Given the description of an element on the screen output the (x, y) to click on. 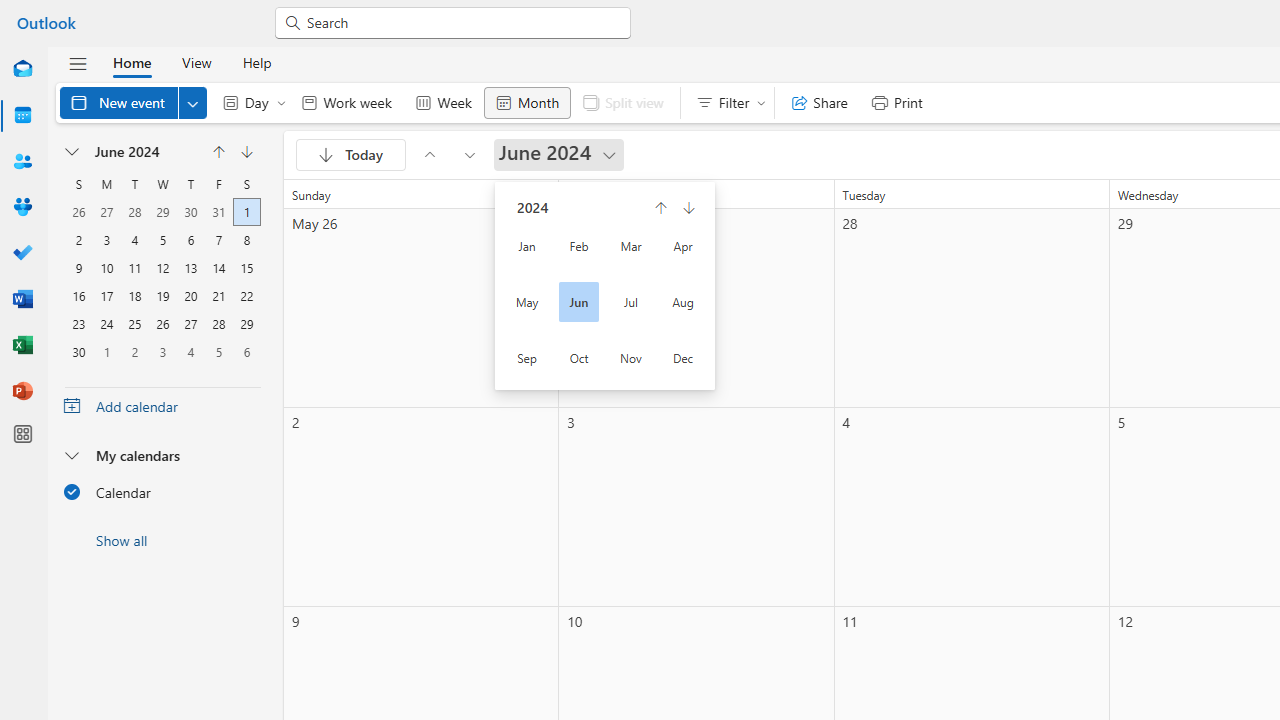
Expand to see more Day options (281, 102)
21, June, 2024 (218, 294)
Tuesday (134, 183)
16, June, 2024 (79, 294)
9, June, 2024 (79, 265)
6, June, 2024 (191, 238)
Week (443, 102)
Word (22, 299)
13, June, 2024 (190, 265)
24, June, 2024 (106, 322)
5, June, 2024 (163, 238)
Friday (218, 183)
23, June, 2024 (78, 322)
My calendars (162, 455)
26, June, 2024 (162, 322)
